Given the description of an element on the screen output the (x, y) to click on. 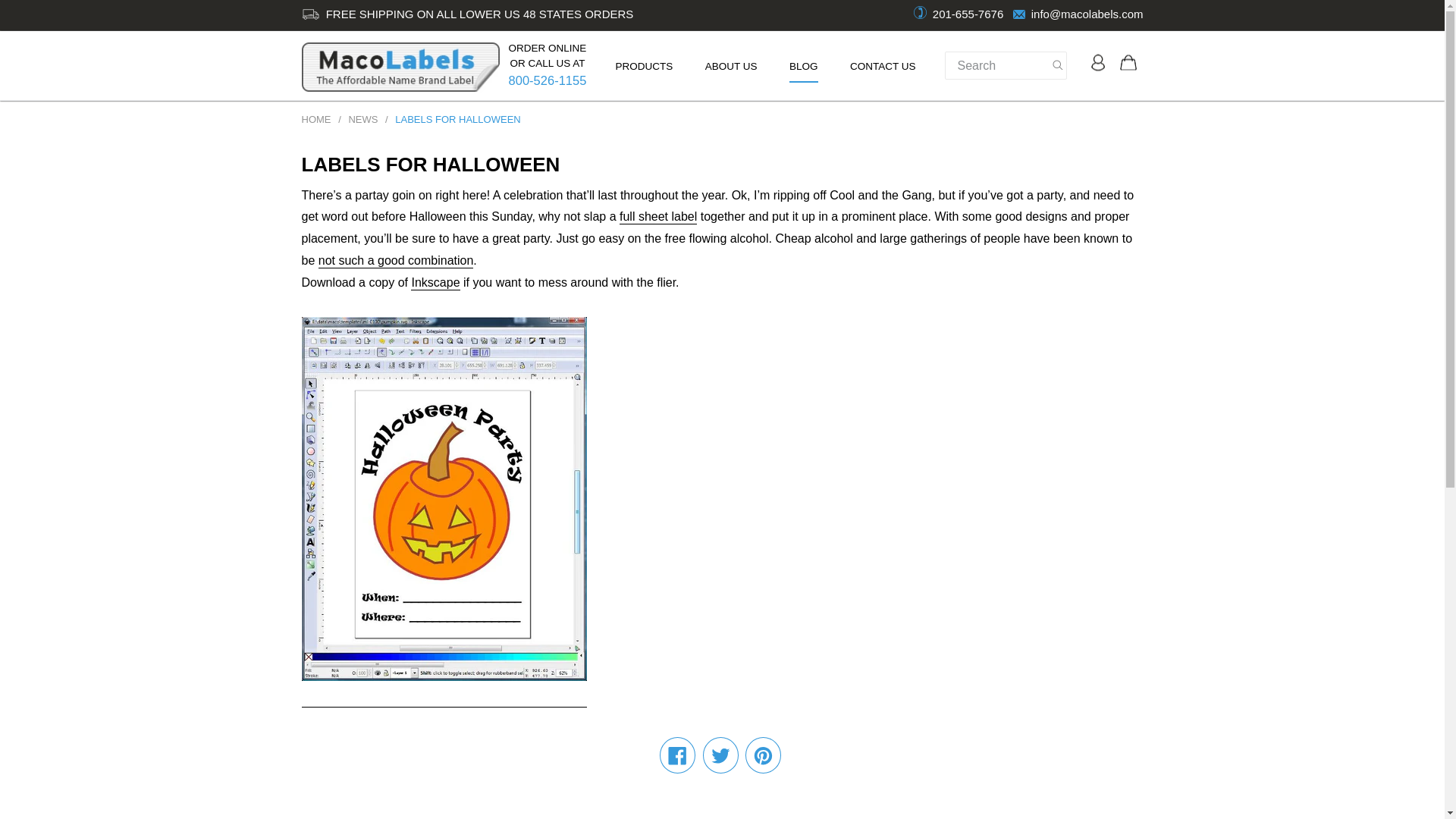
Tweet on Twitter (719, 755)
Pin on Pinterest (762, 755)
Share on Facebook (677, 755)
Home (316, 119)
